Given the description of an element on the screen output the (x, y) to click on. 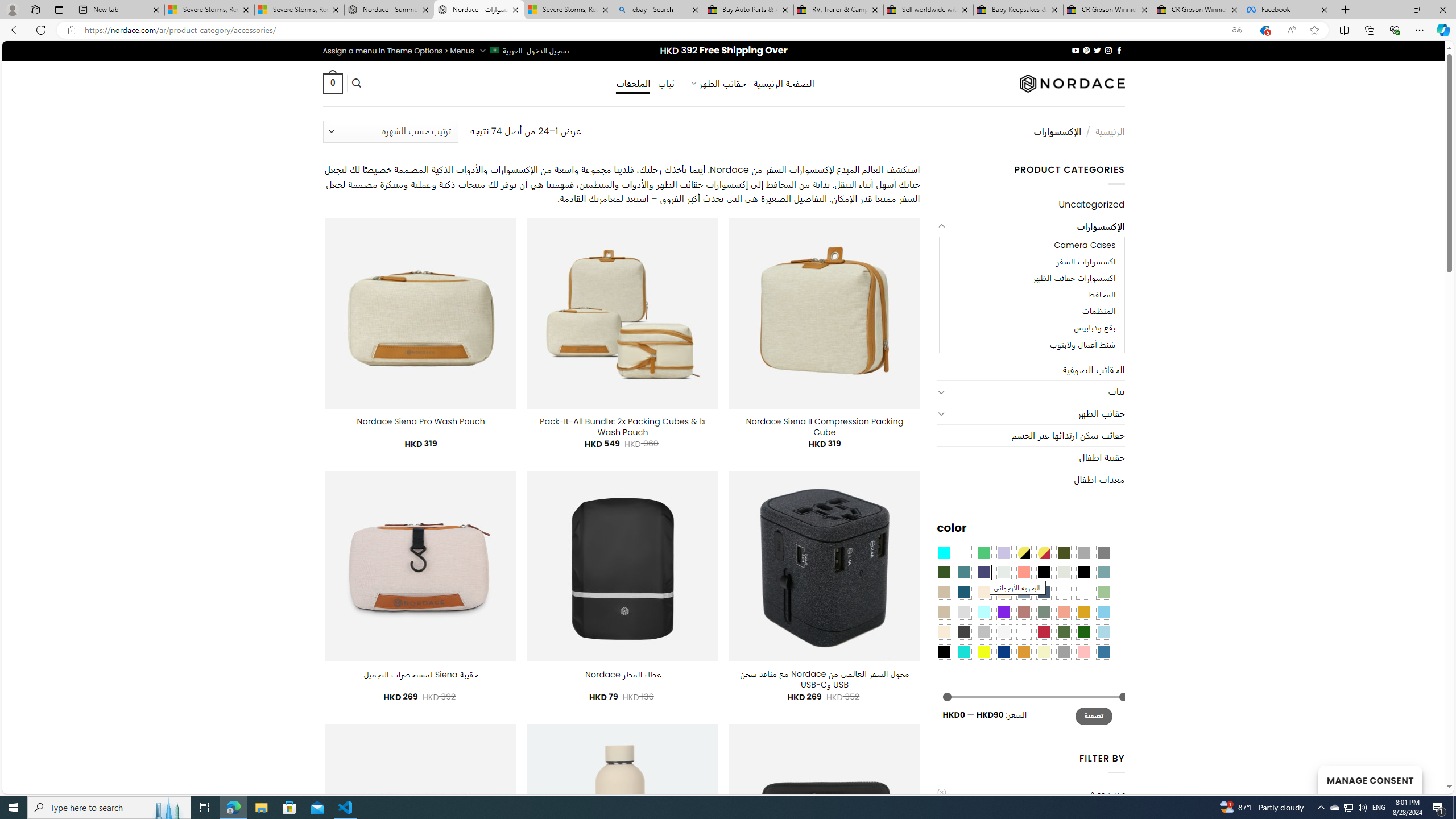
This site has coupons! Shopping in Microsoft Edge, 5 (1263, 29)
Clear (963, 551)
Show translate options (1236, 29)
Teal (963, 572)
